Given the description of an element on the screen output the (x, y) to click on. 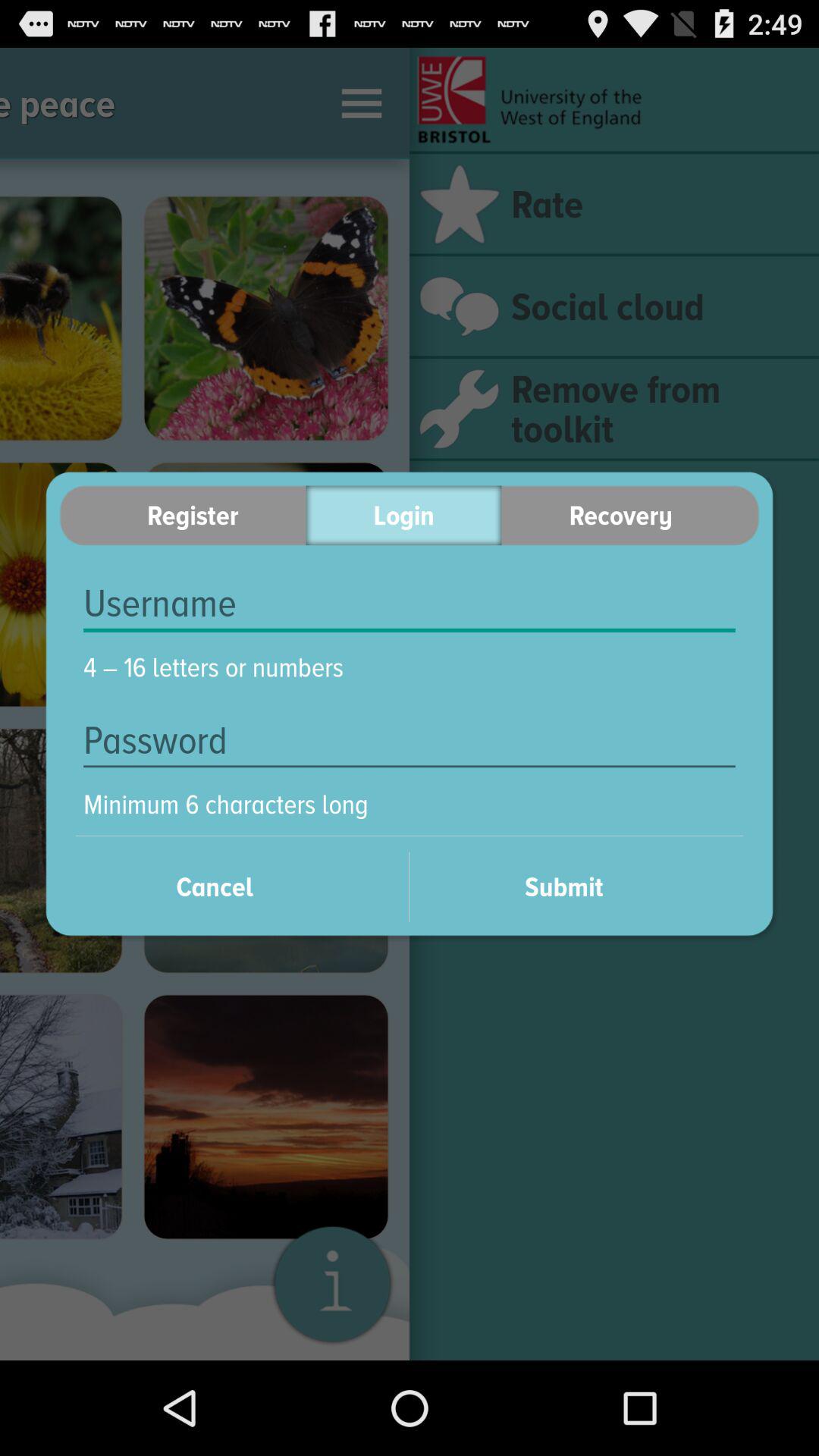
turn off item above the 4 16 letters item (409, 603)
